Given the description of an element on the screen output the (x, y) to click on. 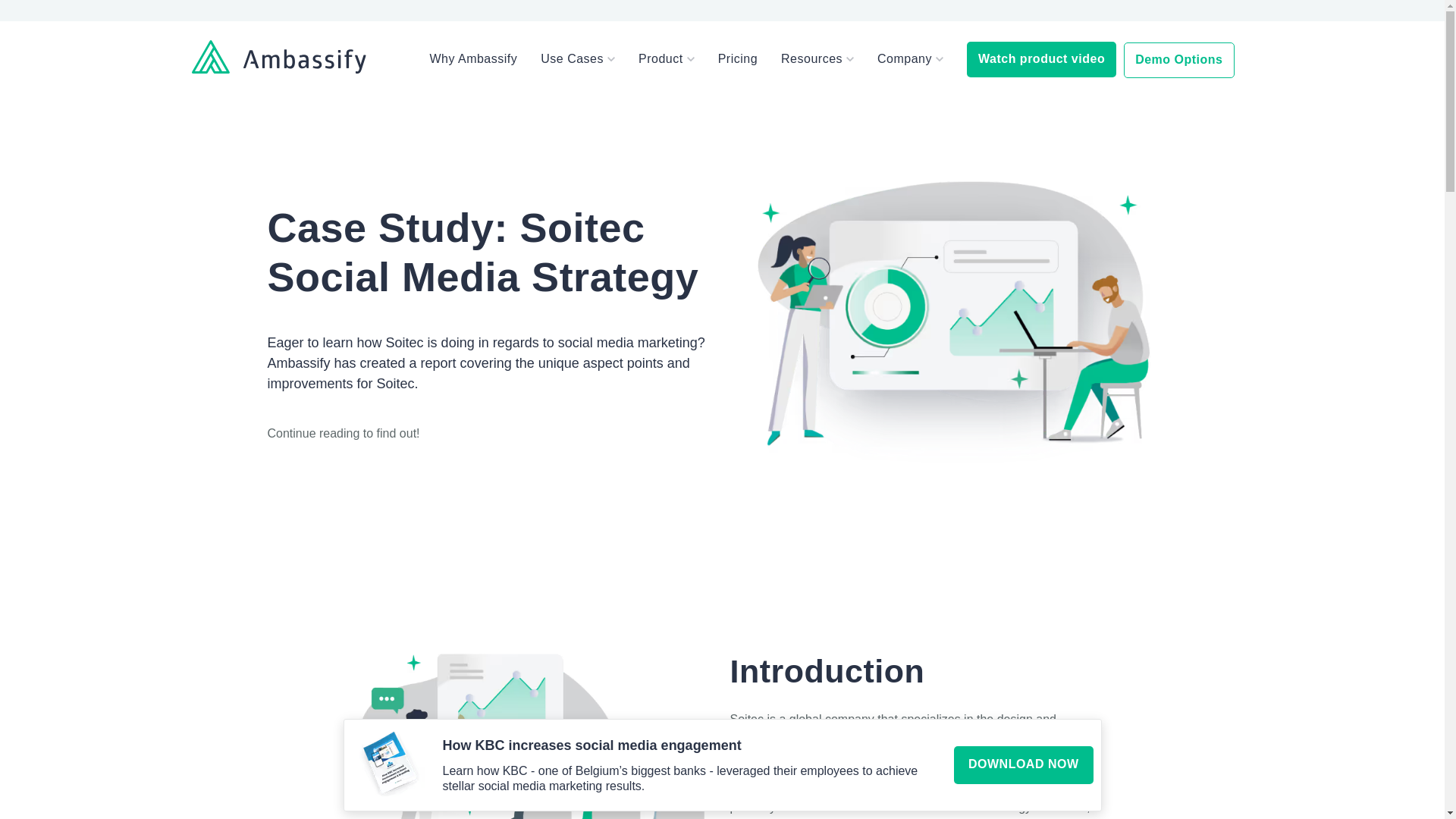
Company (904, 59)
Why Ambassify (472, 59)
Pricing (737, 59)
Resources (811, 59)
Use Cases (572, 59)
Product (660, 59)
